Given the description of an element on the screen output the (x, y) to click on. 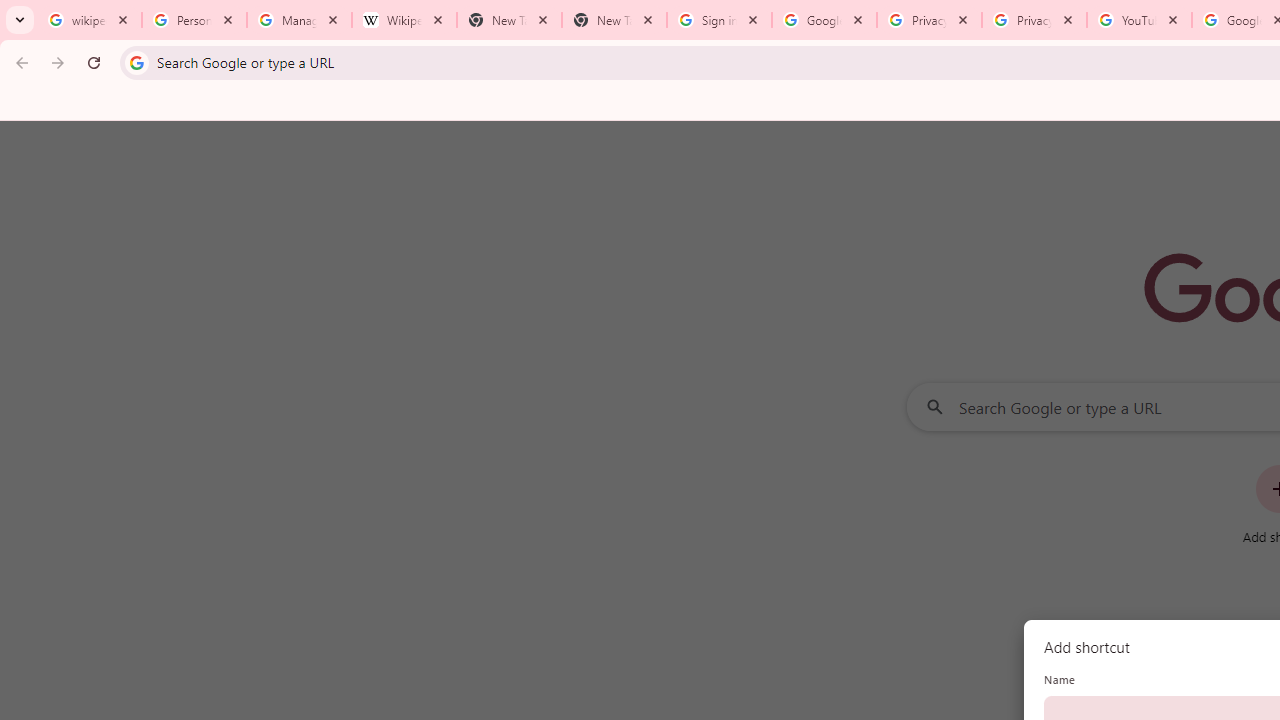
New Tab (613, 20)
